Given the description of an element on the screen output the (x, y) to click on. 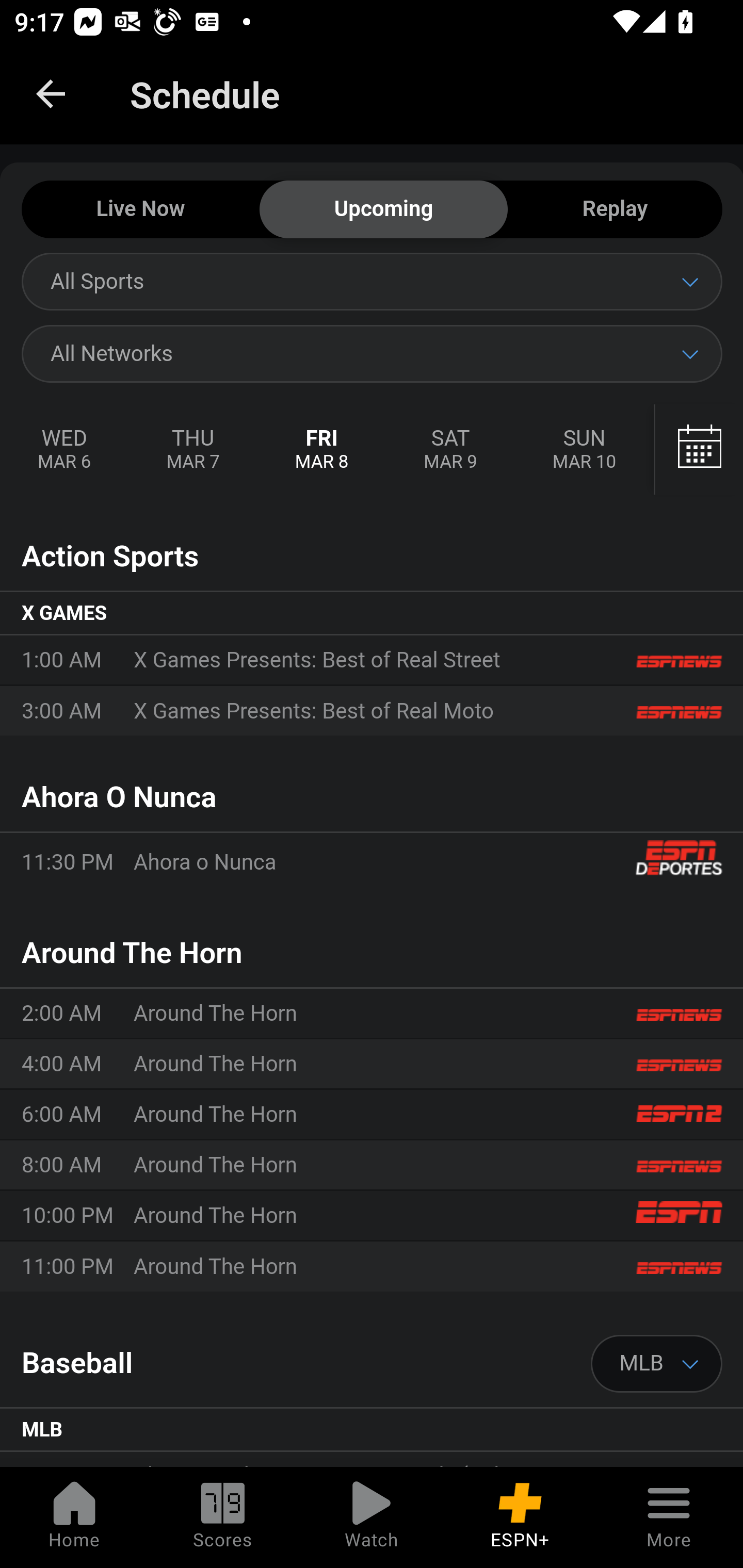
back.button (50, 93)
Live Now (140, 209)
Upcoming (382, 209)
Replay (614, 209)
All Sports (371, 281)
All Networks (371, 353)
Calendar (698, 449)
WED MAR 6 (65, 449)
THU MAR 7 (192, 449)
FRI MAR 8 (321, 449)
SAT MAR 9 (450, 449)
SUN MAR 10 (583, 449)
Home (74, 1517)
Scores (222, 1517)
Watch (371, 1517)
More (668, 1517)
